Given the description of an element on the screen output the (x, y) to click on. 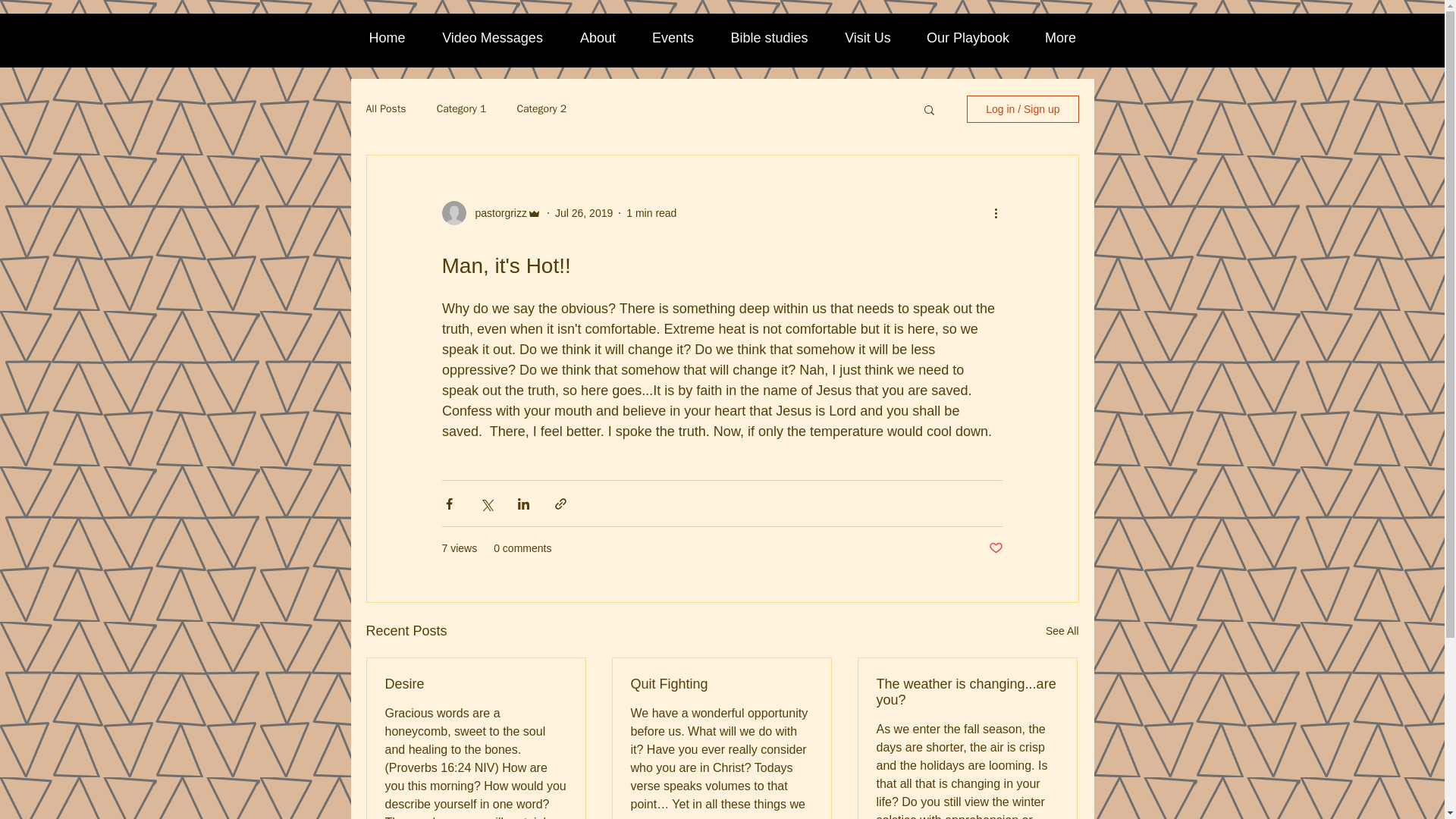
pastorgrizz (495, 212)
Our Playbook (967, 37)
Category 2 (541, 109)
Visit Us (867, 37)
Desire (476, 684)
1 min read (651, 212)
Home (386, 37)
Category 1 (461, 109)
All Posts (385, 109)
Quit Fighting (721, 684)
